Given the description of an element on the screen output the (x, y) to click on. 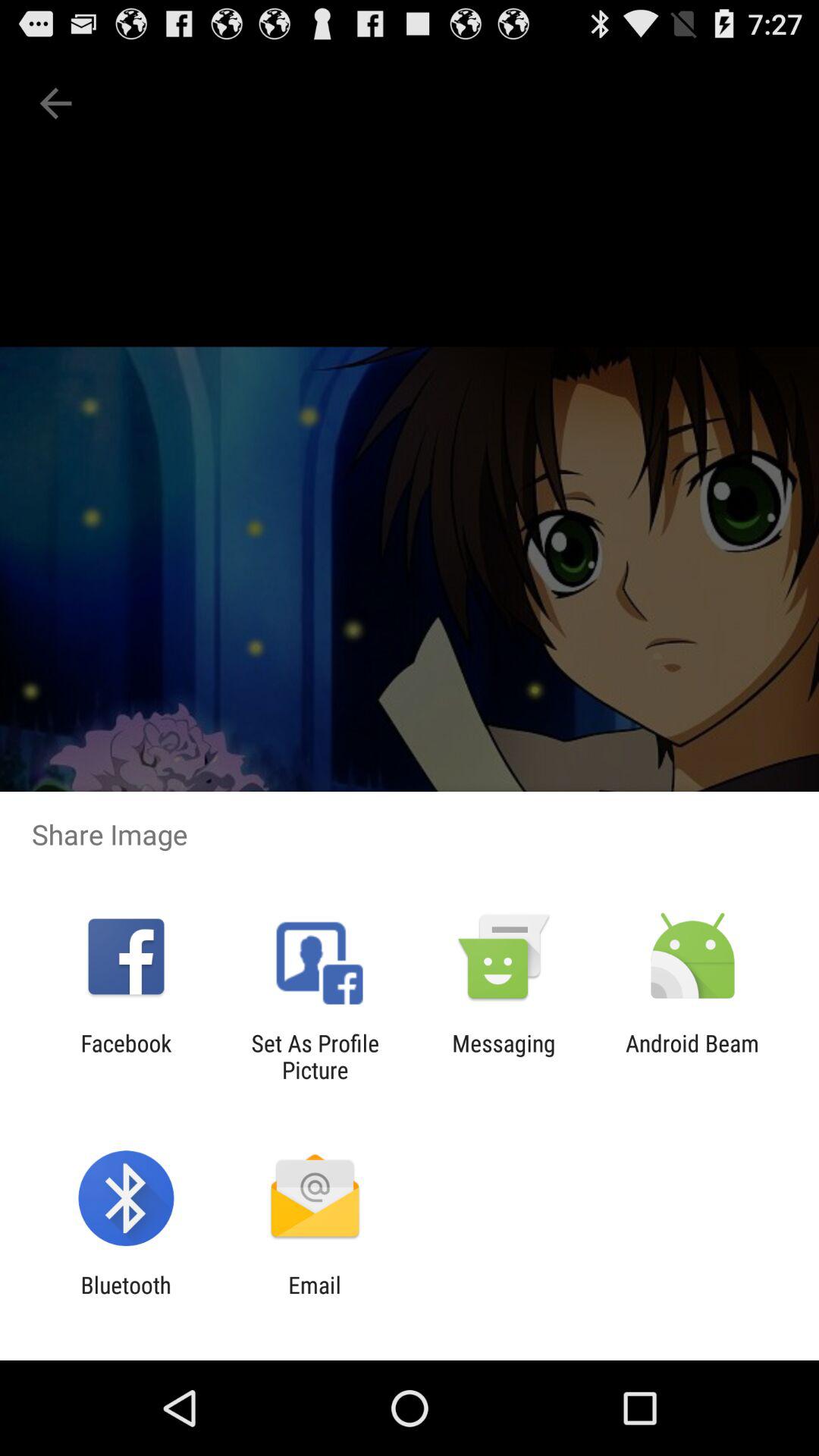
scroll until the email app (314, 1298)
